Given the description of an element on the screen output the (x, y) to click on. 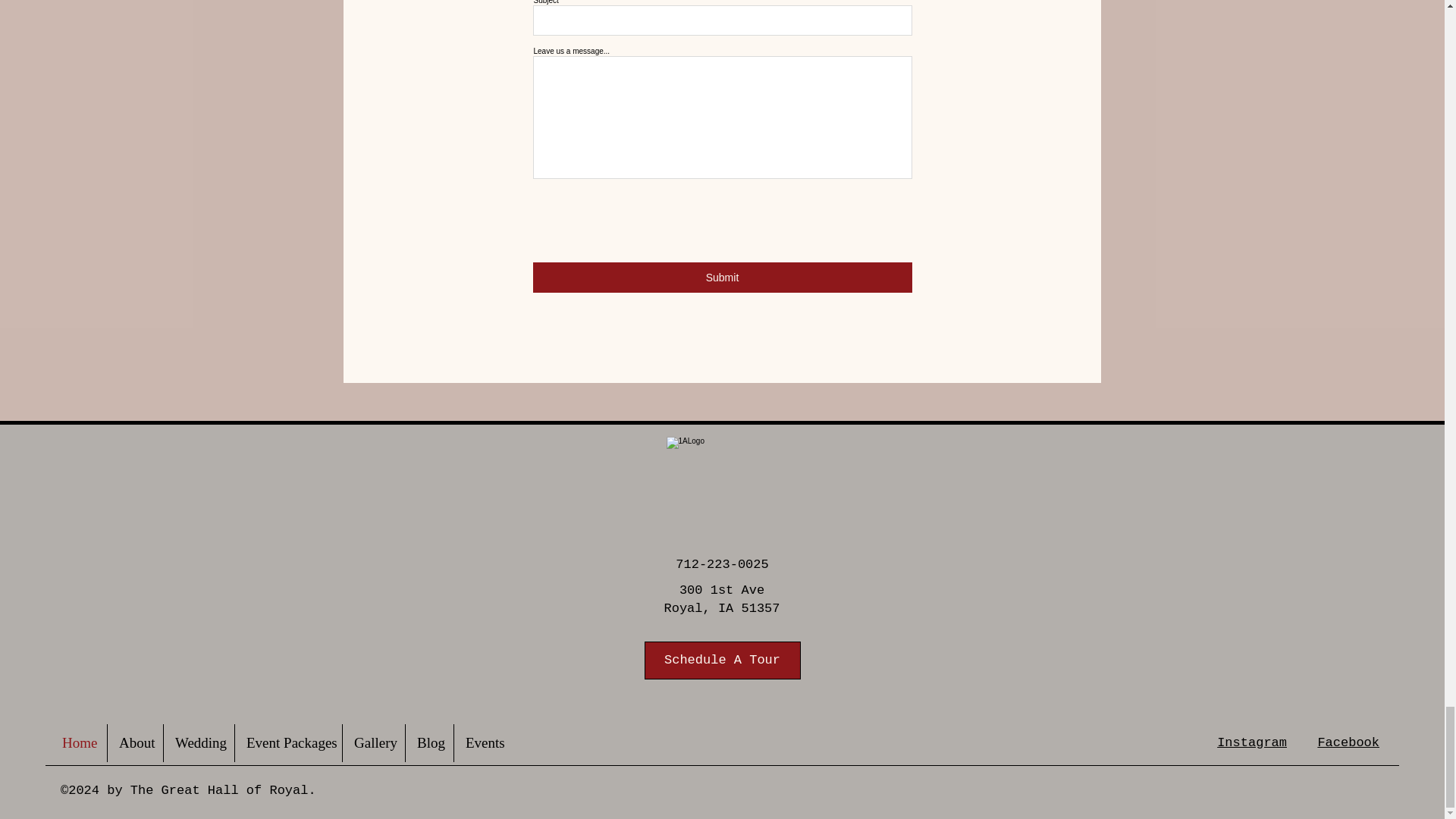
Wedding (198, 742)
Schedule A Tour (722, 660)
About (135, 742)
Facebook (1347, 742)
Event Packages (288, 742)
Instagram (1252, 742)
Blog (429, 742)
Gallery (373, 742)
Events (483, 742)
Home (78, 742)
